Given the description of an element on the screen output the (x, y) to click on. 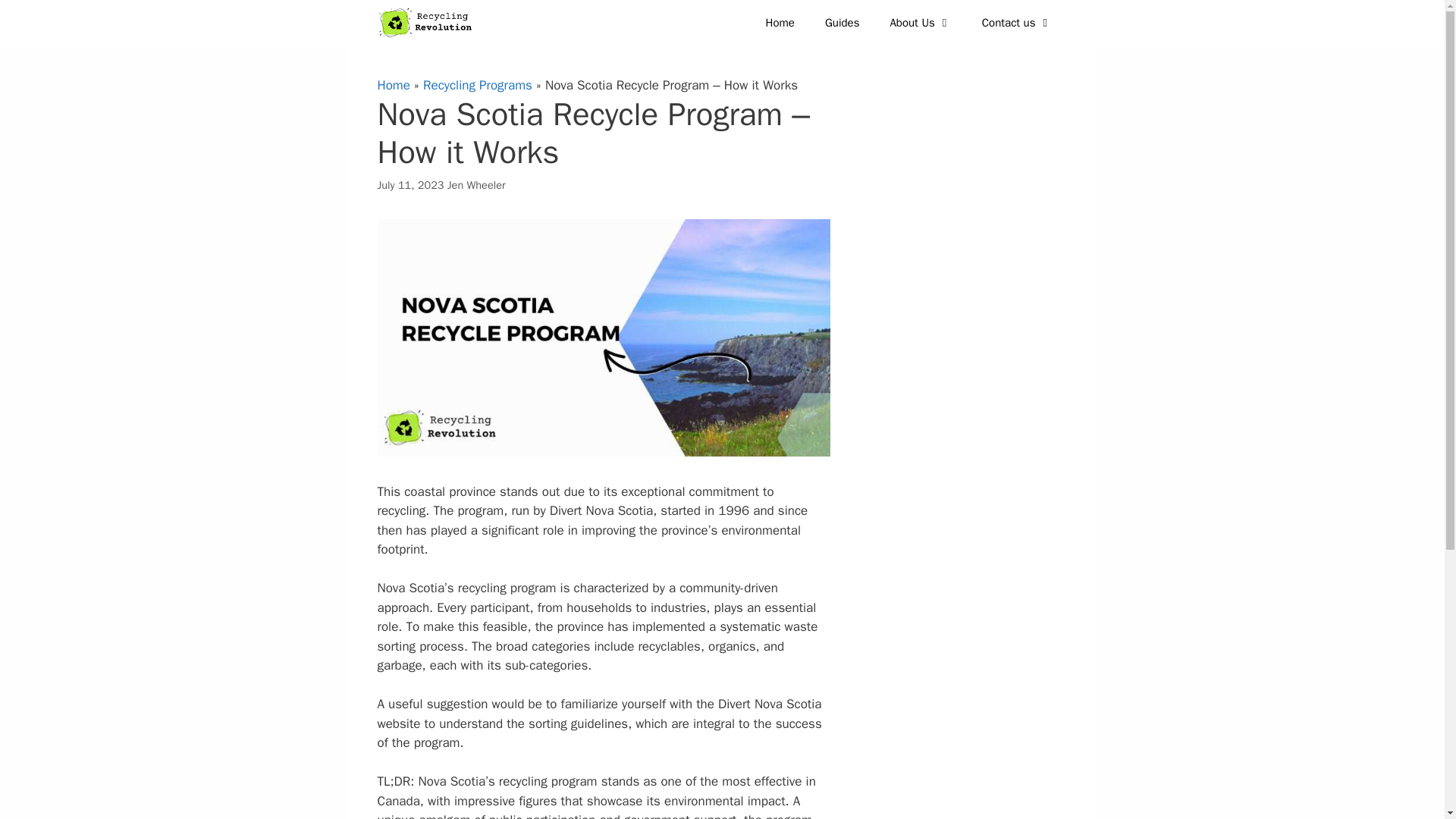
Recycling Revolution (425, 22)
Home (780, 22)
Jen Wheeler (475, 183)
About Us (920, 22)
Contact us (1016, 22)
Recycling Revolution (429, 22)
Jen Wheeler (475, 183)
Home (393, 84)
Recycling Programs (477, 84)
Guides (842, 22)
